Given the description of an element on the screen output the (x, y) to click on. 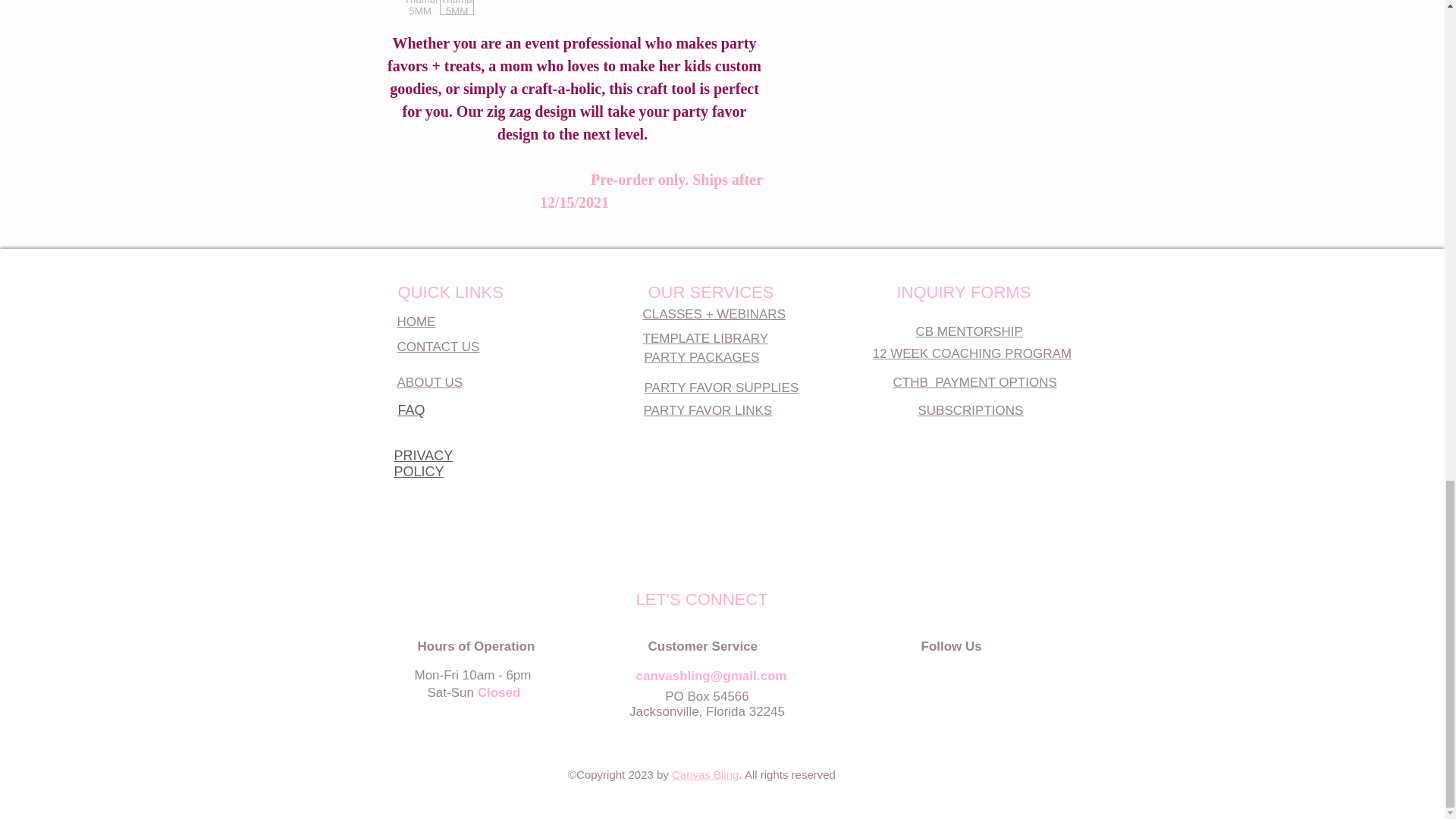
ABOUT US (430, 382)
HOME (416, 321)
CONTACT US (438, 346)
